Given the description of an element on the screen output the (x, y) to click on. 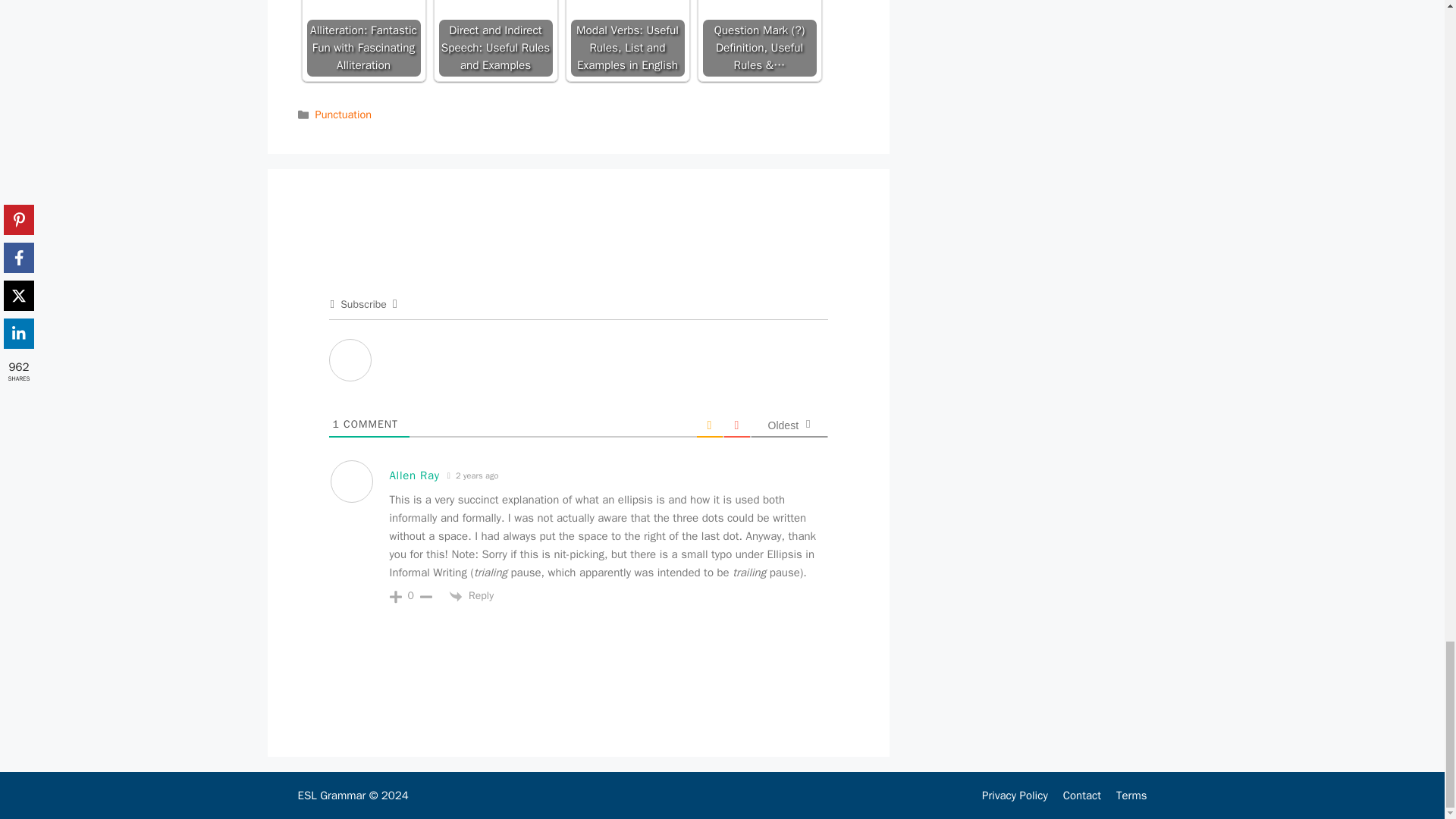
Direct and Indirect Speech: Useful Rules and Examples (494, 11)
Alliteration: Fantastic Fun with Fascinating Alliteration (362, 38)
Modal Verbs: Useful Rules, List and Examples in English (627, 11)
